Given the description of an element on the screen output the (x, y) to click on. 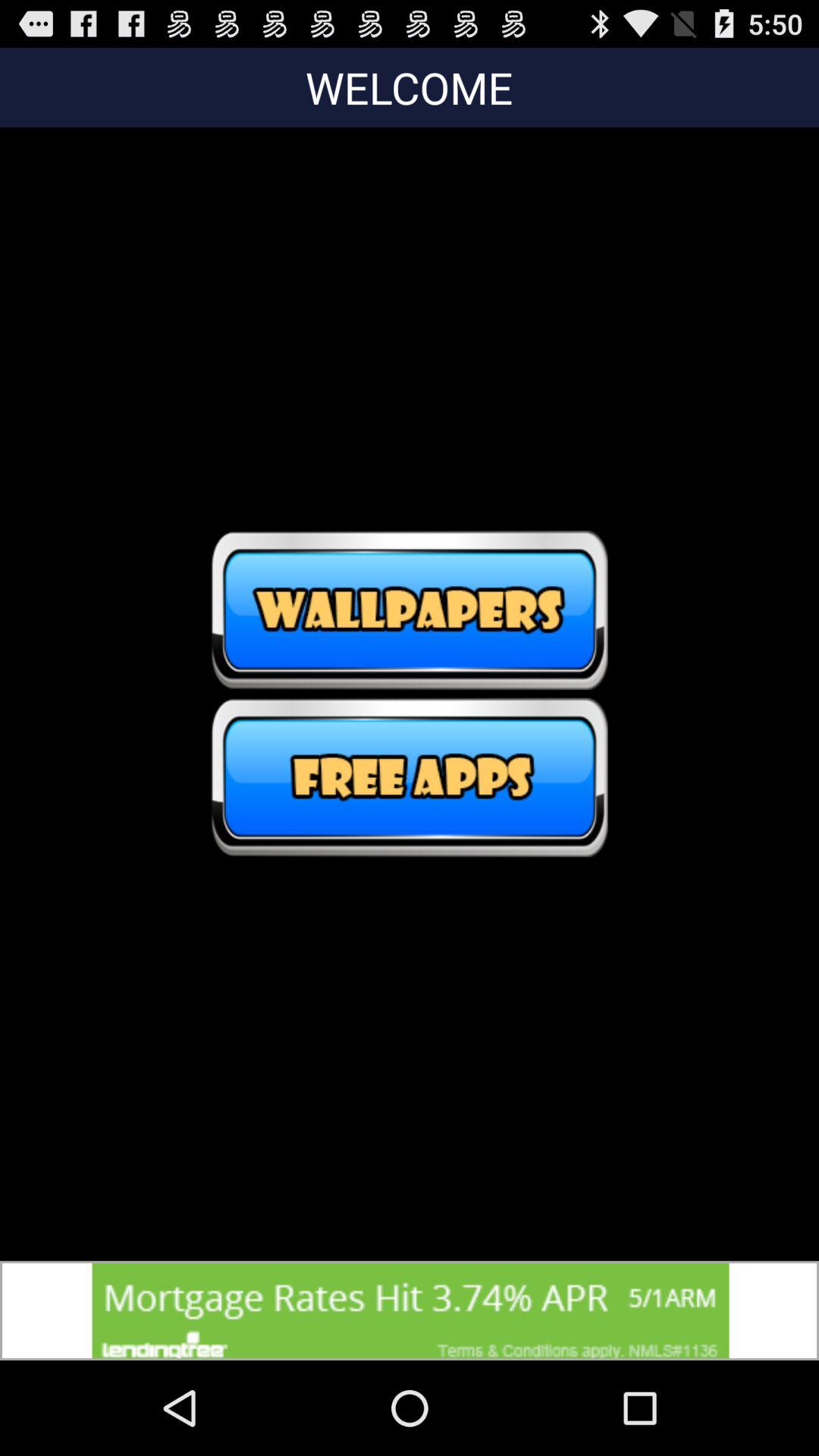
wallpapers switch option (409, 609)
